Given the description of an element on the screen output the (x, y) to click on. 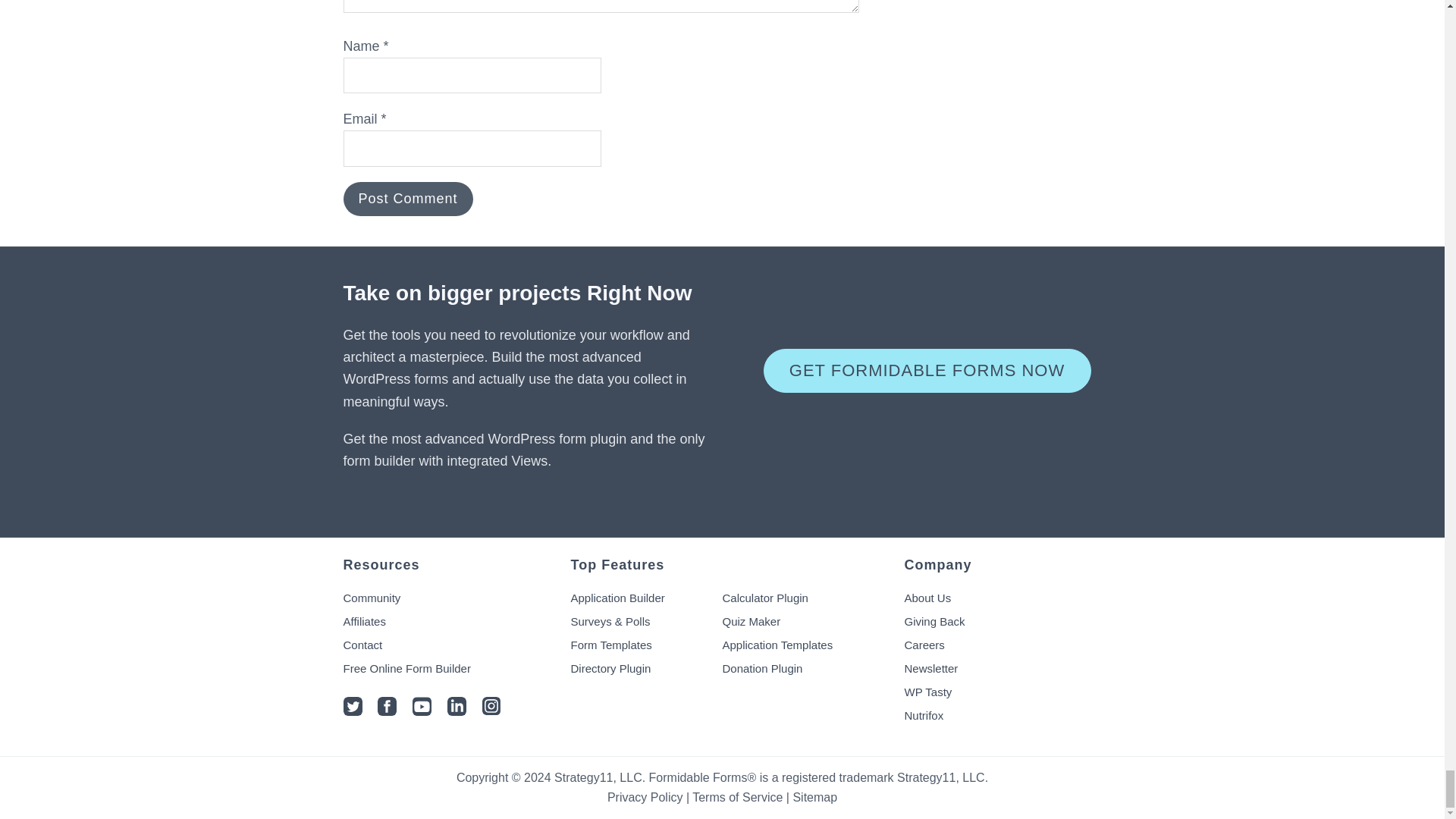
YouTube (421, 711)
Facebook (386, 711)
Linkedin (455, 711)
Post Comment (406, 198)
Instagram (490, 711)
Twitter (351, 711)
Get Formidable Forms Now (926, 370)
